Given the description of an element on the screen output the (x, y) to click on. 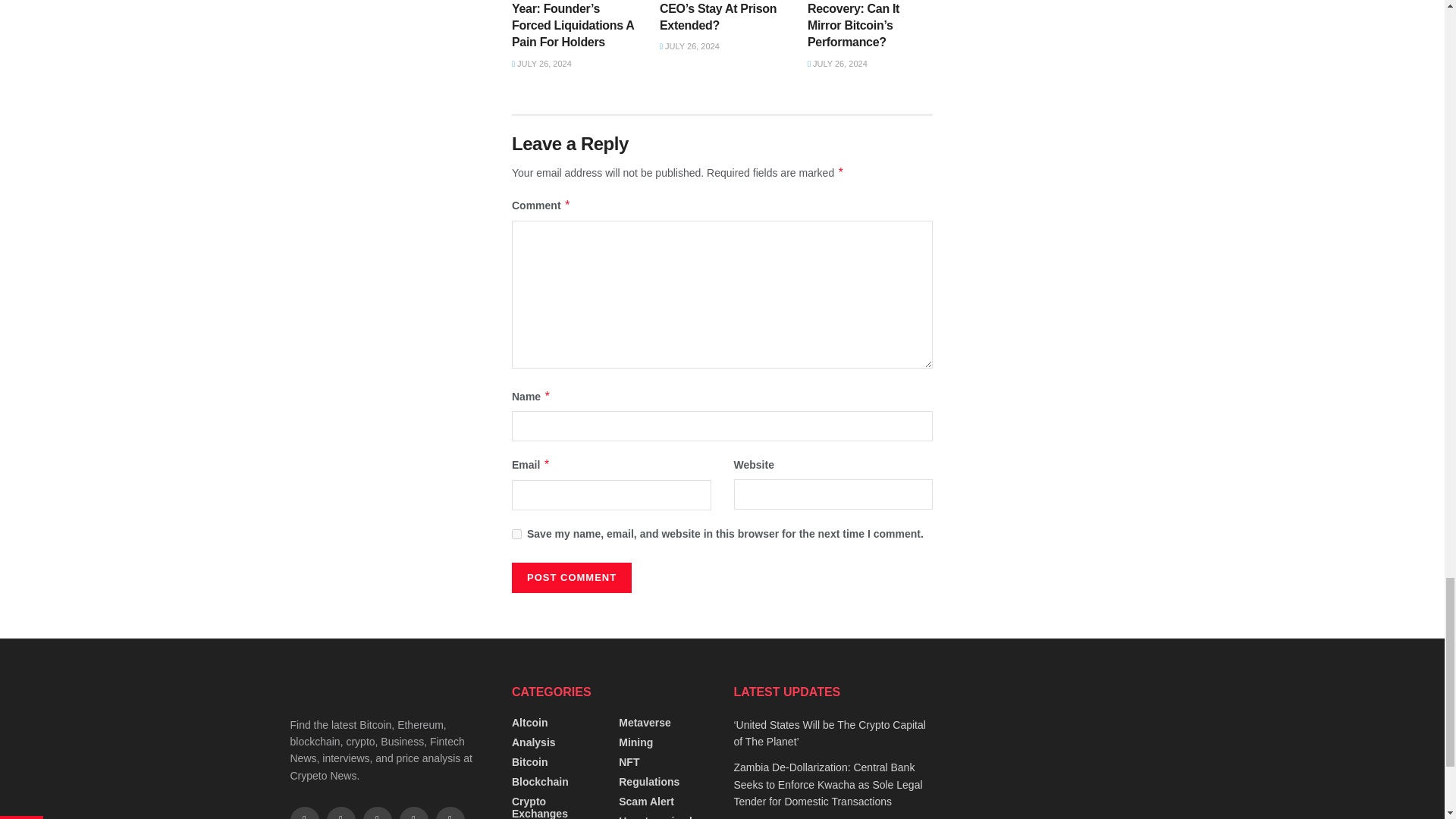
yes (516, 533)
Post Comment (571, 577)
